Given the description of an element on the screen output the (x, y) to click on. 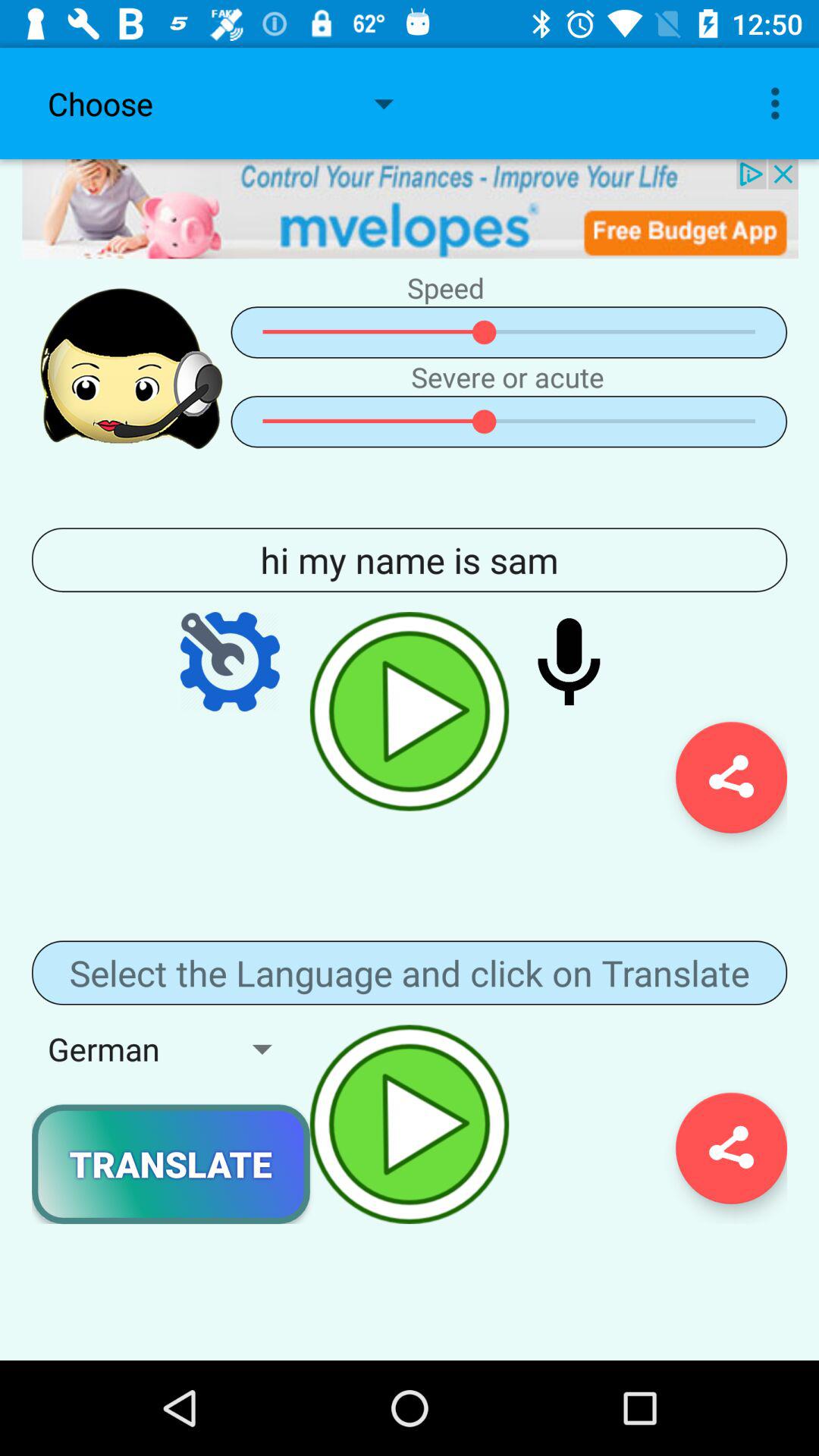
advertisement (409, 208)
